Given the description of an element on the screen output the (x, y) to click on. 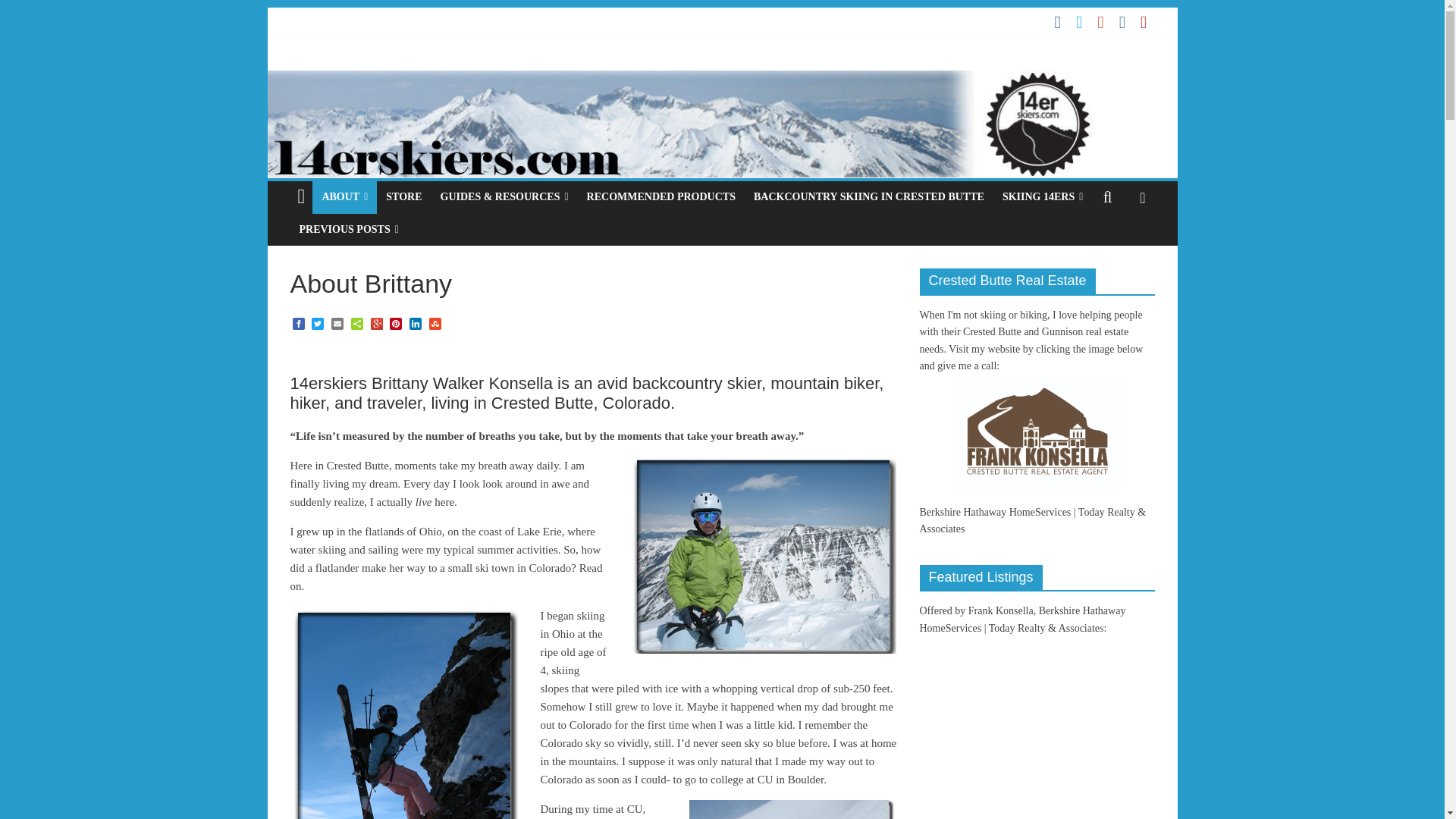
PREVIOUS POSTS (348, 229)
BACKCOUNTRY SKIING IN CRESTED BUTTE (868, 196)
RECOMMENDED PRODUCTS (661, 196)
14erskiers.com (721, 79)
ABOUT (345, 196)
STORE (403, 196)
SKIING 14ERS (1042, 196)
